Given the description of an element on the screen output the (x, y) to click on. 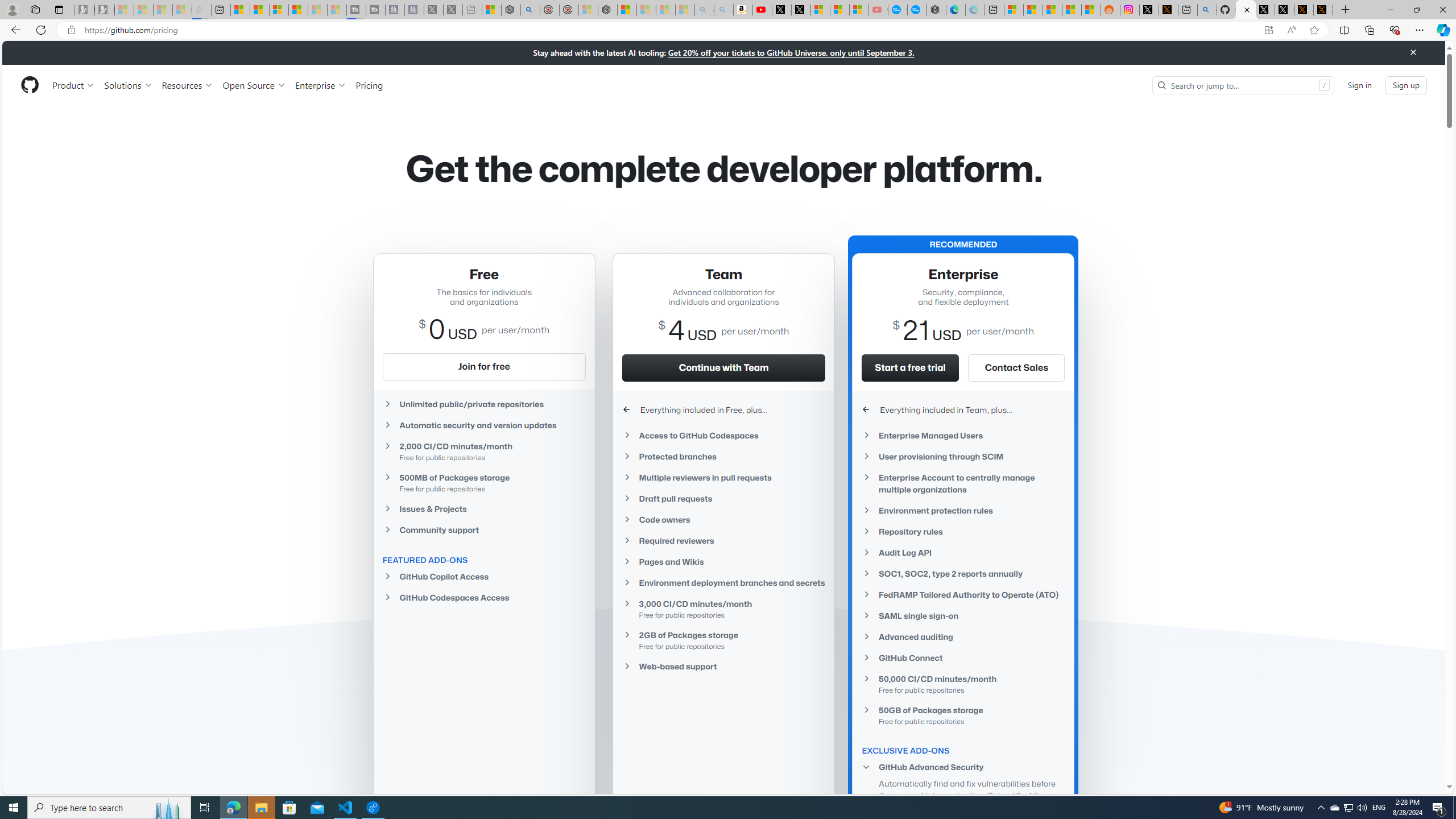
Automatic security and version updates (483, 425)
Product (74, 84)
Nordace - Nordace Siena Is Not An Ordinary Backpack (606, 9)
New tab - Sleeping (471, 9)
Homepage (29, 85)
X - Sleeping (452, 9)
Access to GitHub Codespaces (723, 435)
Open Source (254, 84)
Everything included in Free, plus... (723, 409)
GitHub Connect (963, 658)
SOC1, SOC2, type 2 reports annually (963, 573)
FedRAMP Tailored Authority to Operate (ATO) (963, 594)
SOC1, SOC2, type 2 reports annually (963, 573)
